Given the description of an element on the screen output the (x, y) to click on. 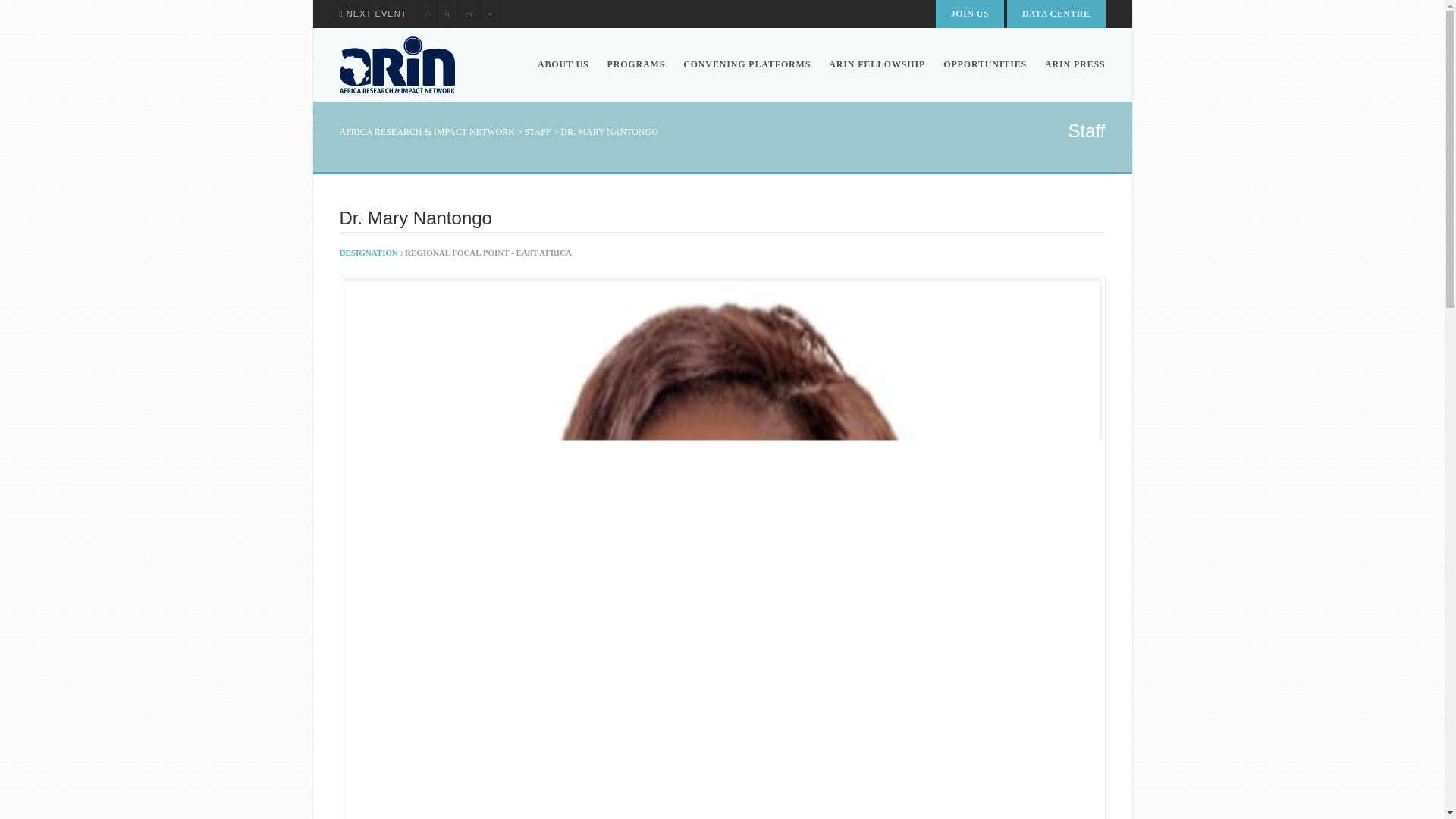
ARIN FELLOWSHIP (876, 64)
OPPORTUNITIES (984, 64)
ABOUT US (563, 64)
JOIN US (970, 13)
DATA CENTRE (1056, 13)
Go to Staff. (537, 131)
CONVENING PLATFORMS (746, 64)
PROGRAMS (635, 64)
ARIN PRESS (1070, 64)
